Given the description of an element on the screen output the (x, y) to click on. 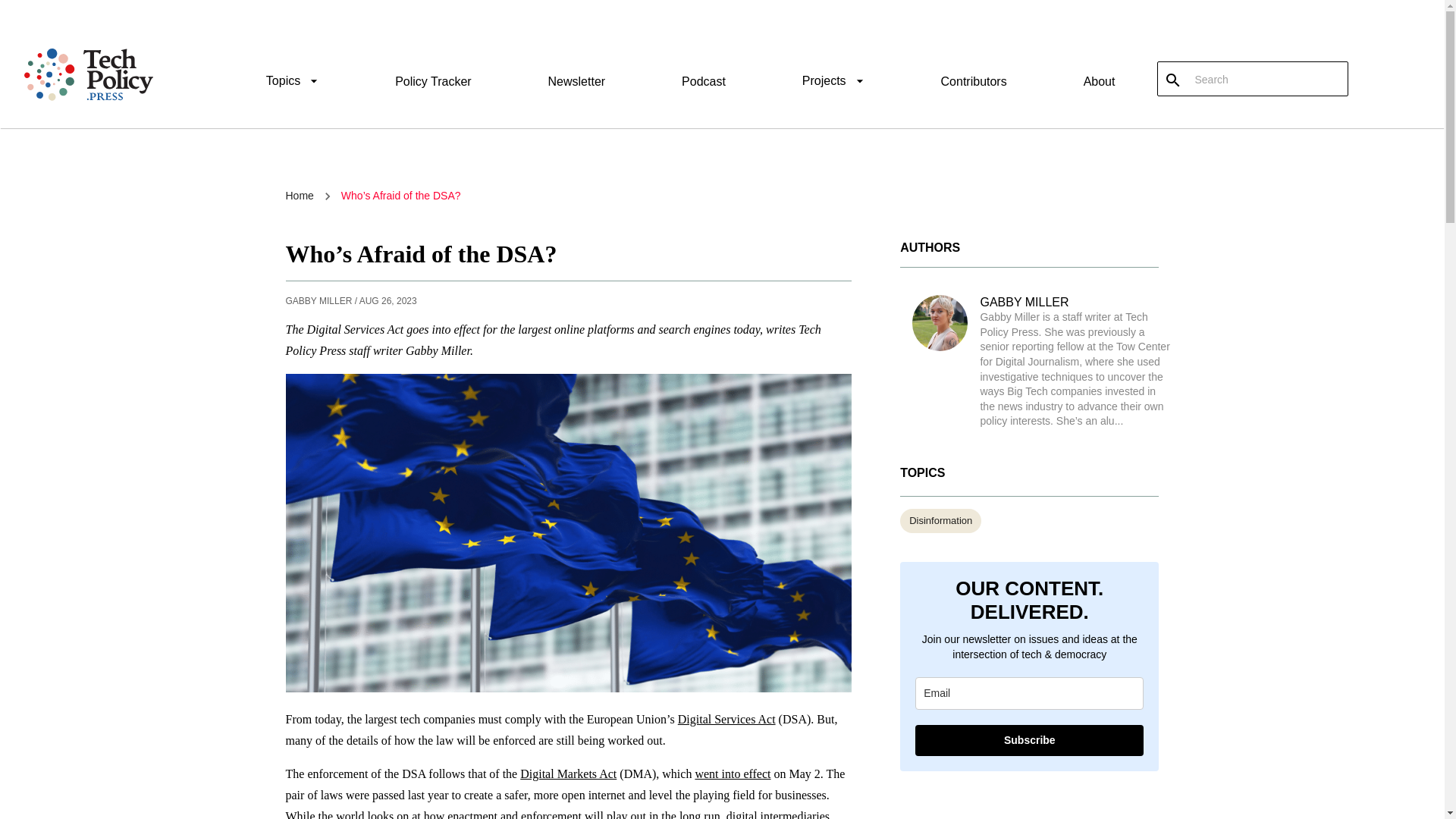
went into effect (732, 773)
Newsletter (576, 81)
Digital Markets Act (567, 773)
Contributors (973, 81)
Podcast (703, 81)
Projects (833, 83)
Digital Services Act (727, 718)
About (1099, 81)
Policy Tracker (432, 81)
Topics (292, 83)
